Given the description of an element on the screen output the (x, y) to click on. 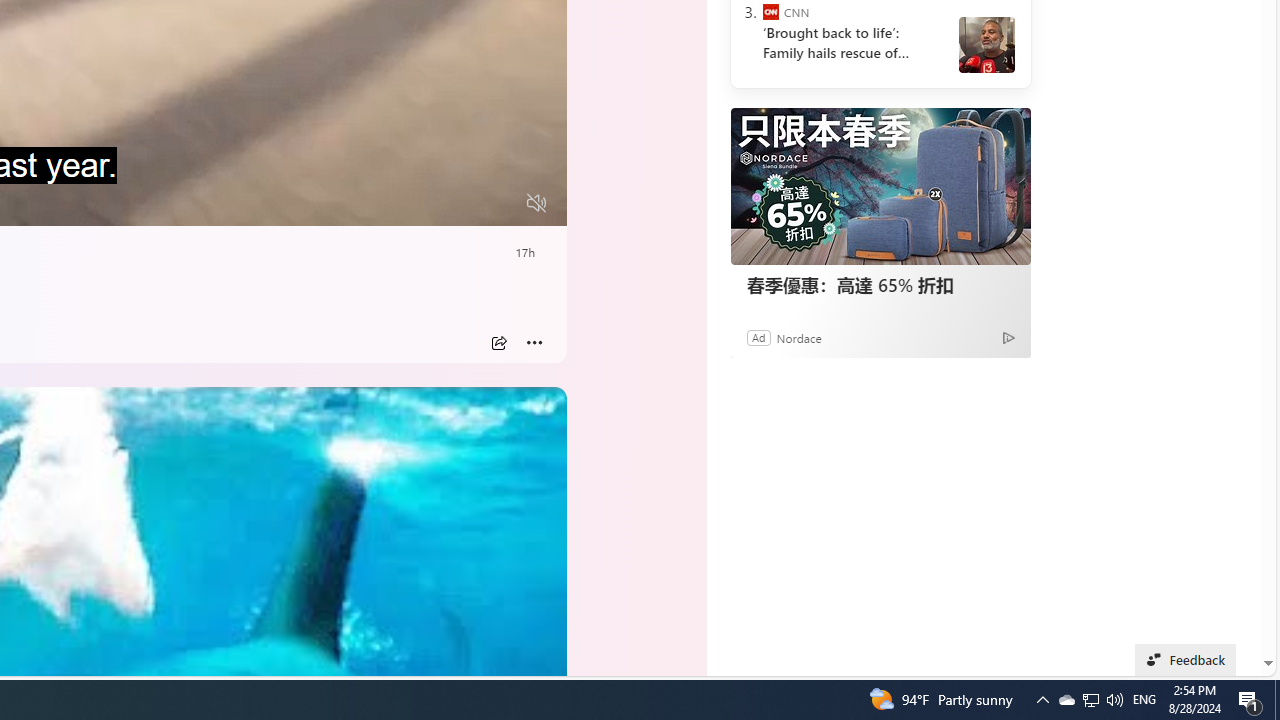
CNN (770, 12)
Quality Settings (418, 203)
Captions (457, 203)
Share (498, 343)
Fullscreen (497, 203)
Share (498, 343)
Unmute (535, 203)
